Given the description of an element on the screen output the (x, y) to click on. 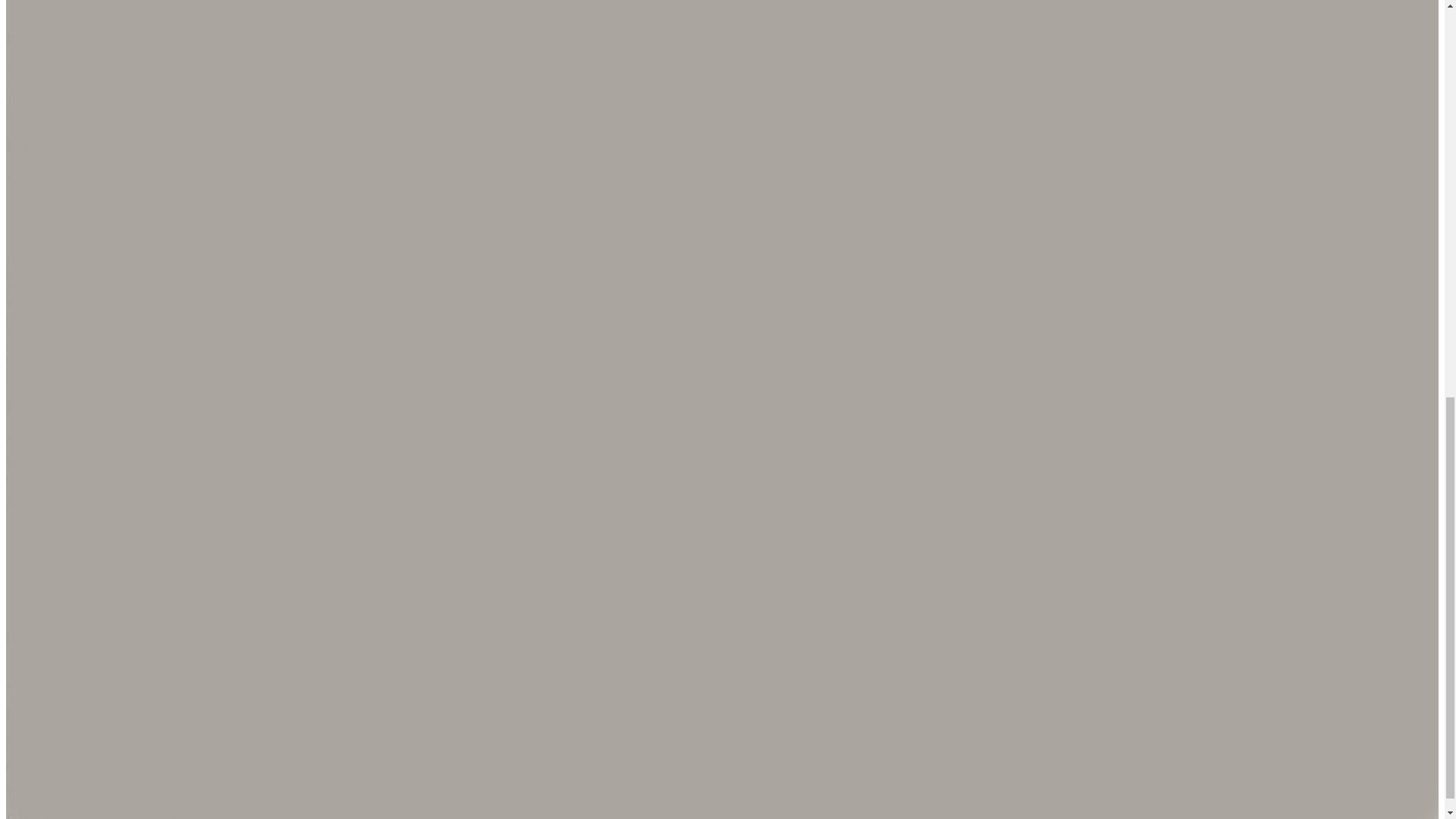
Cartoon Network Amazone Tickets. (666, 739)
Tiger Park (35, 99)
Teddy Bear Museum Pattaya Tickets (465, 739)
